Given the description of an element on the screen output the (x, y) to click on. 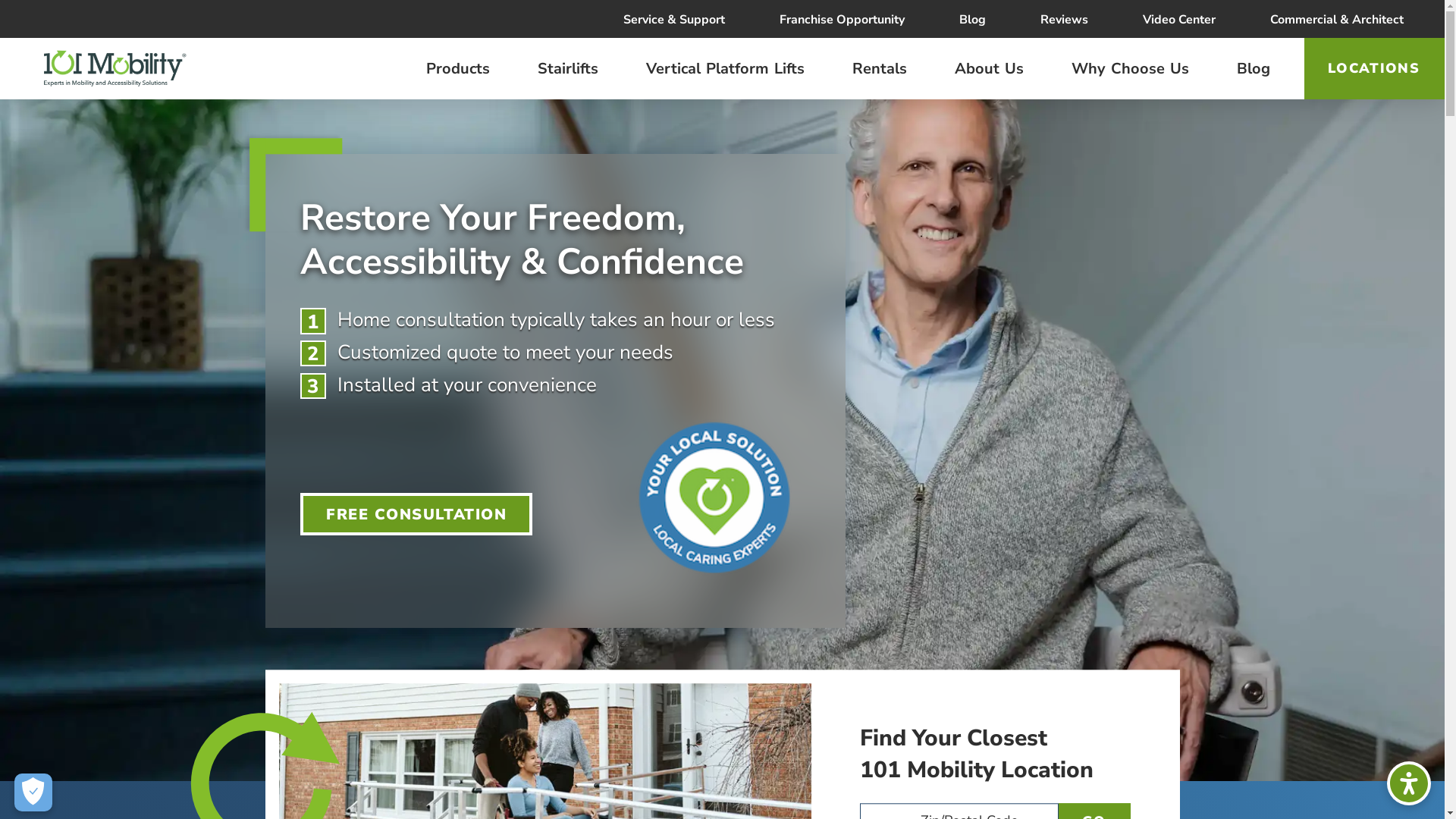
Video Center Element type: text (1179, 18)
Reviews Element type: text (1063, 18)
Open the accessibility options menu Element type: hover (1408, 783)
About Us Element type: text (989, 68)
Products Element type: text (457, 68)
Open the accessibility options menu Element type: hover (1408, 783)
Commercial & Architect Element type: text (1336, 18)
Change Settings Element type: hover (33, 792)
Franchise Opportunity Element type: text (841, 18)
Vertical Platform Lifts Element type: text (725, 68)
FREE CONSULTATION Element type: text (416, 514)
Stairlifts Element type: text (567, 68)
Rentals Element type: text (879, 68)
Blog Element type: text (1253, 68)
Service & Support Element type: text (673, 18)
LOCATIONS Element type: text (1374, 68)
Blog Element type: text (972, 18)
Why Choose Us Element type: text (1129, 68)
